Given the description of an element on the screen output the (x, y) to click on. 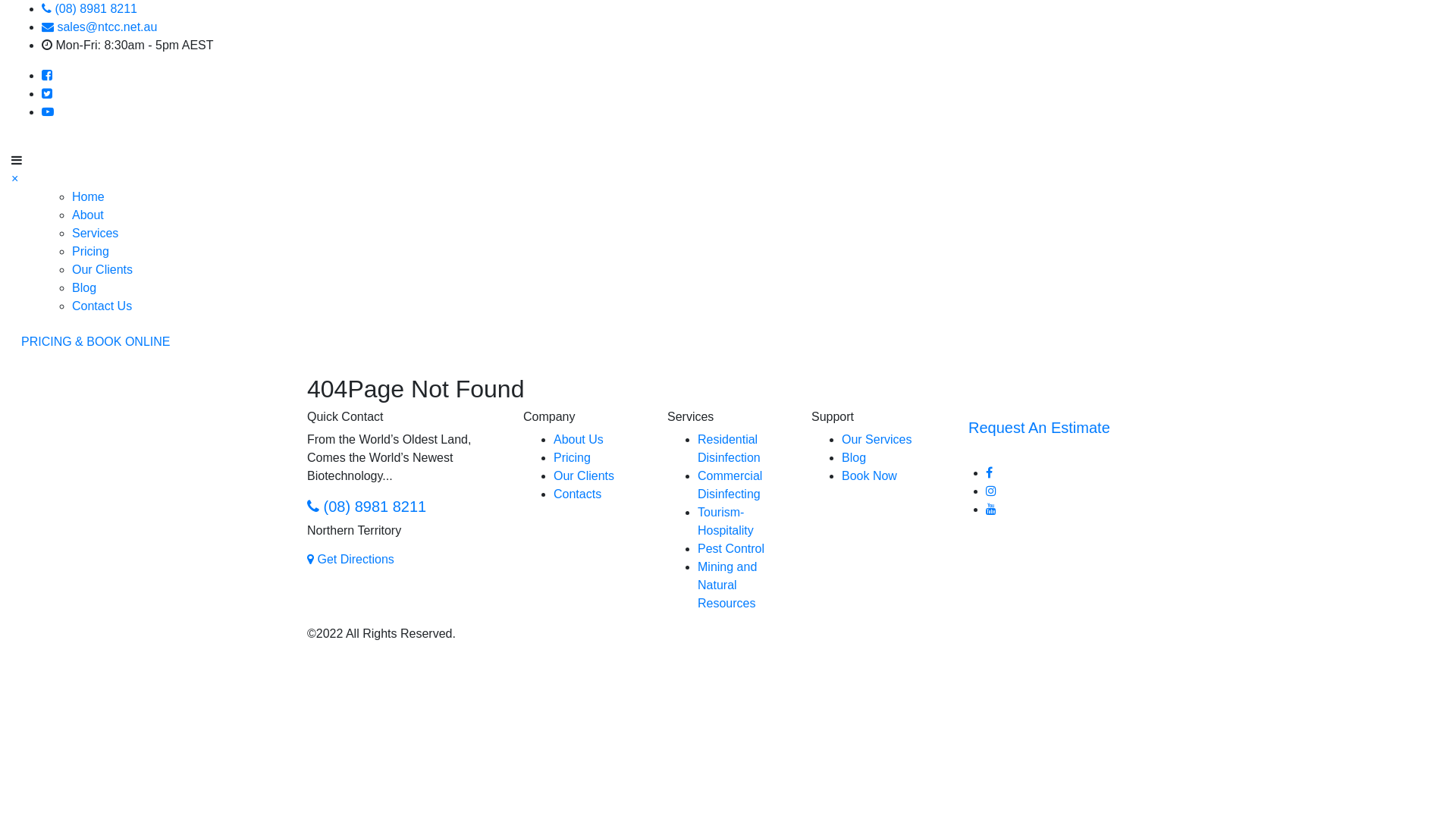
Pricing Element type: text (571, 457)
Contact Us Element type: text (101, 305)
Blog Element type: text (853, 457)
sales@ntcc.net.au Element type: text (98, 26)
(08) 8981 8211 Element type: text (89, 8)
(08) 8981 8211 Element type: text (366, 506)
Request An Estimate Element type: text (1039, 427)
Our Clients Element type: text (102, 269)
Get Directions Element type: text (350, 558)
Pricing Element type: text (90, 250)
About Element type: text (87, 214)
Mining and Natural Resources Element type: text (726, 584)
Services Element type: text (95, 232)
Book Now Element type: text (869, 475)
Our Services Element type: text (876, 439)
Commercial Disinfecting Element type: text (729, 484)
Pest Control Element type: text (730, 548)
Our Clients Element type: text (583, 475)
Contacts Element type: text (577, 493)
Tourism-Hospitality Element type: text (725, 520)
PRICING & BOOK ONLINE Element type: text (95, 341)
About Us Element type: text (578, 439)
Residential Disinfection Element type: text (728, 448)
Blog Element type: text (84, 287)
Home Element type: text (88, 196)
